Given the description of an element on the screen output the (x, y) to click on. 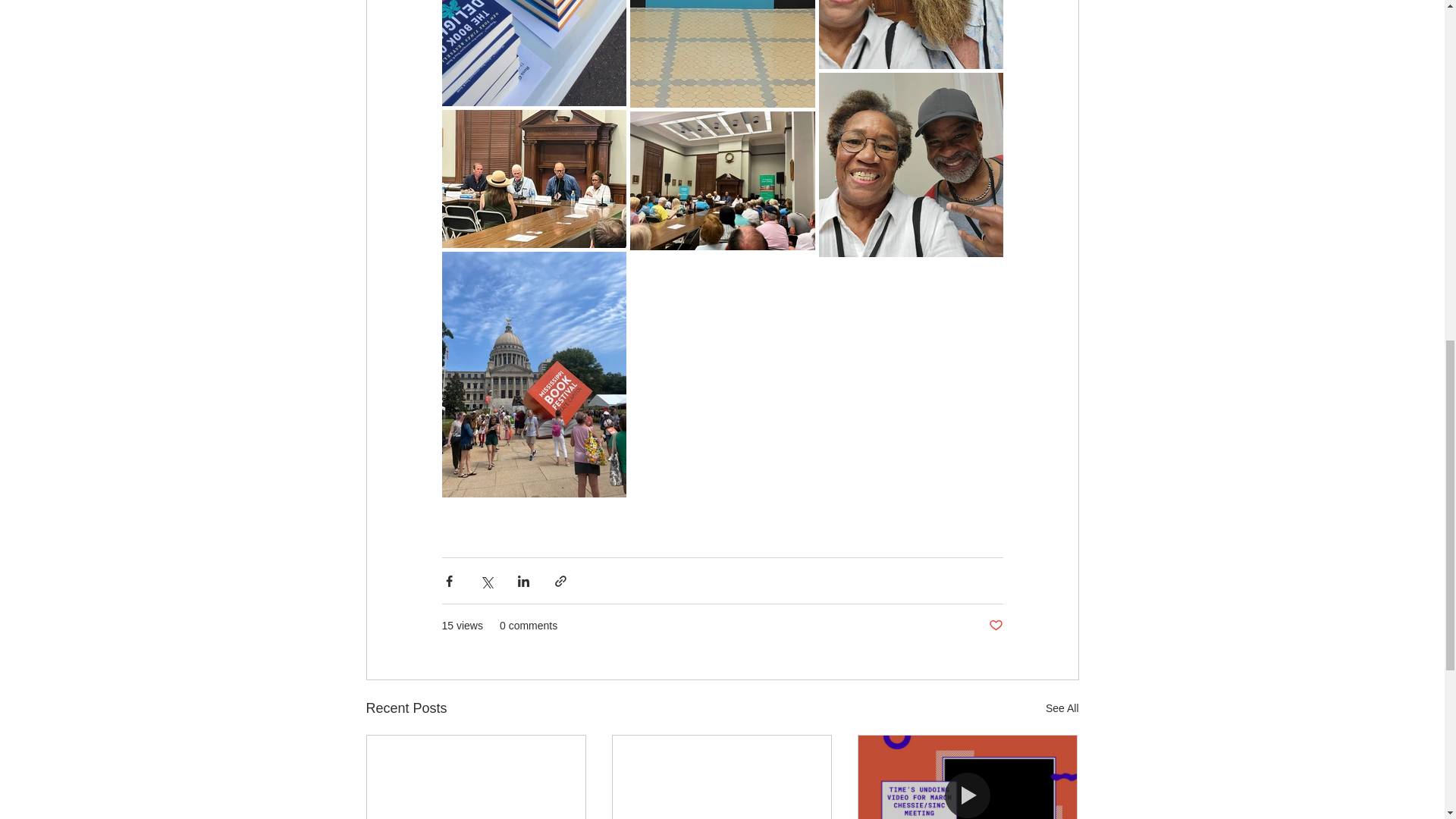
See All (1061, 708)
Post not marked as liked (995, 625)
